Given the description of an element on the screen output the (x, y) to click on. 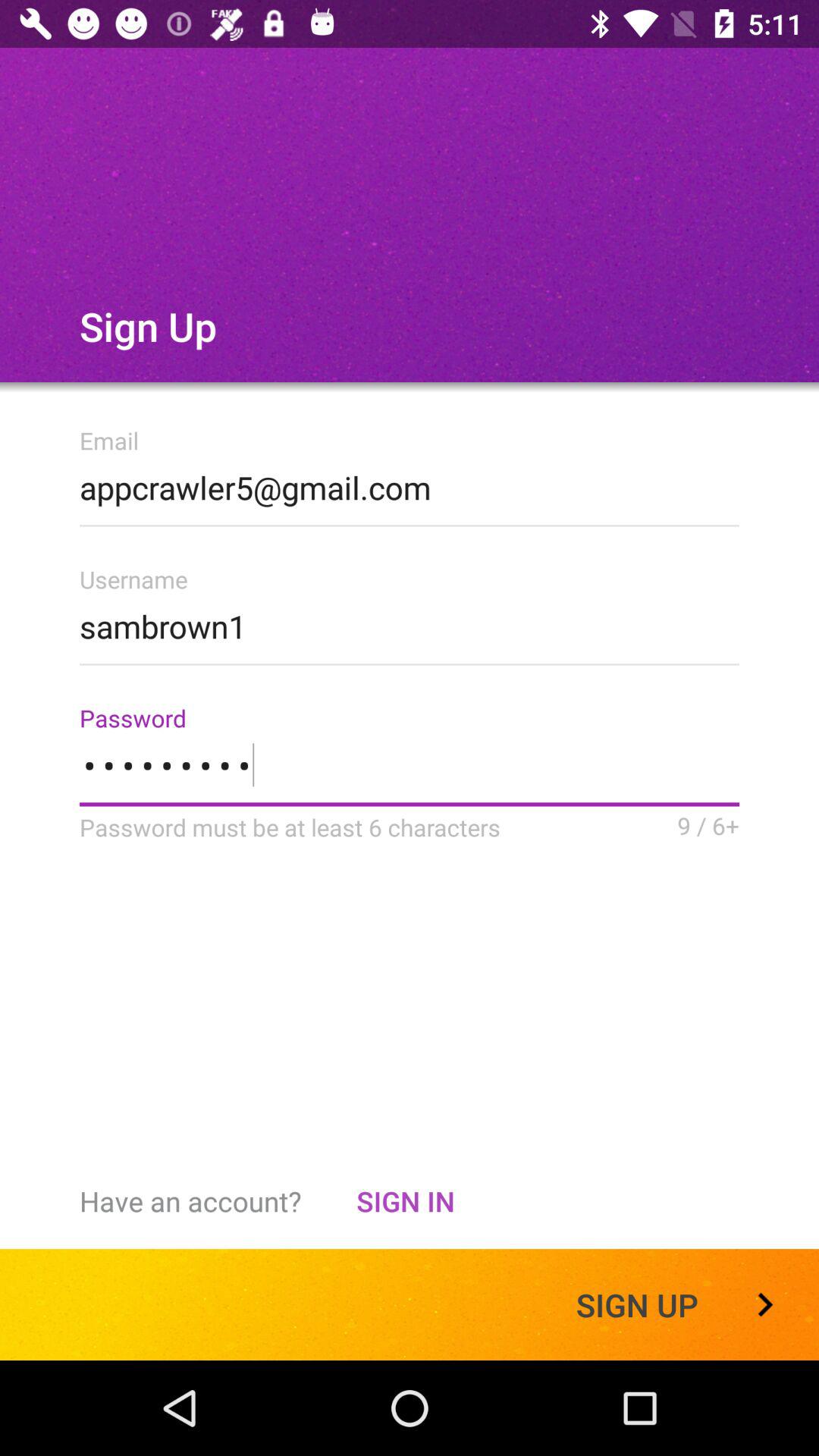
scroll until the appcrawler5@gmail.com item (409, 482)
